Given the description of an element on the screen output the (x, y) to click on. 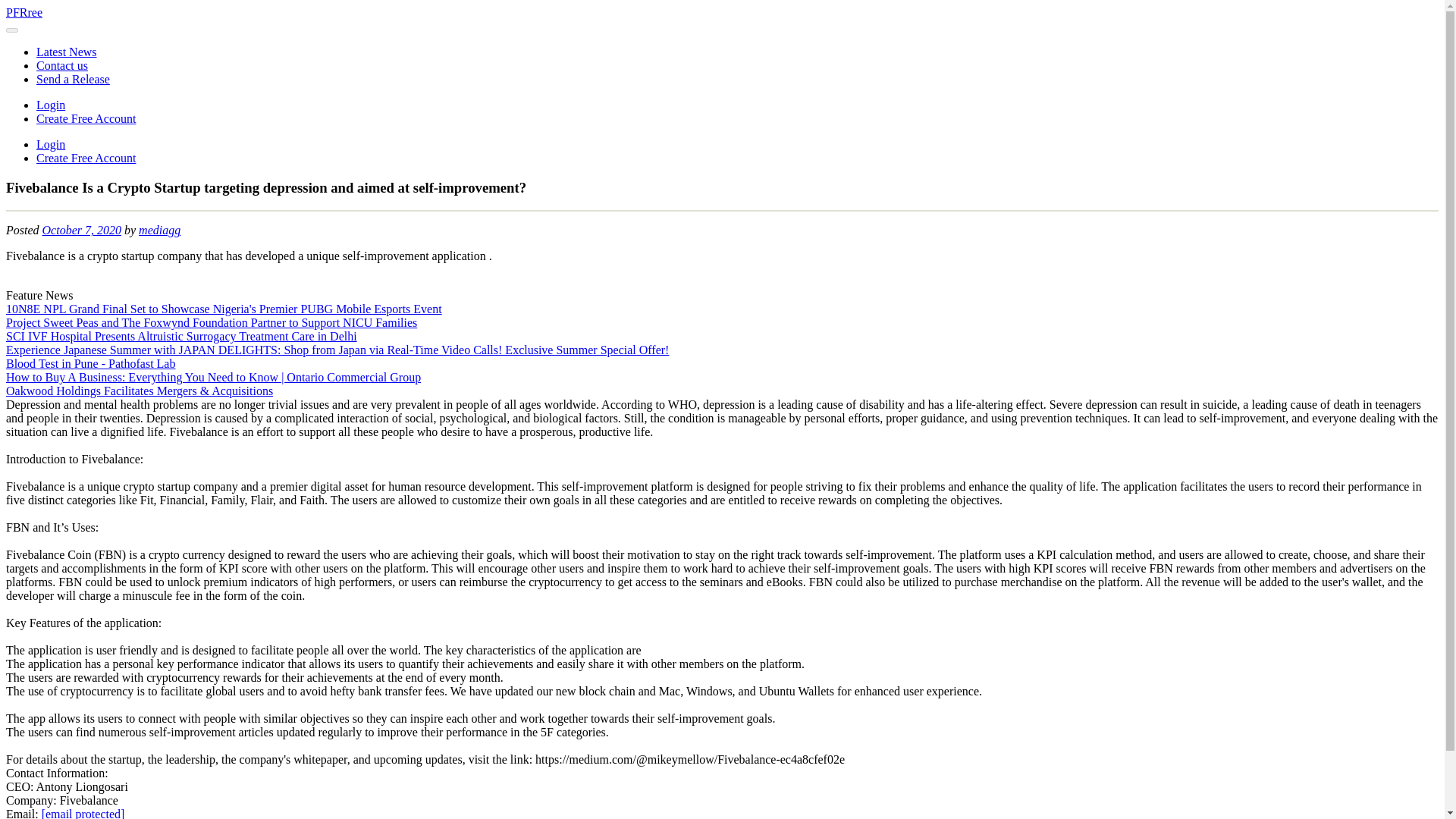
Latest News (66, 51)
Create Free Account (86, 118)
mediagg (159, 229)
Create Free Account (86, 157)
Login (50, 104)
Contact us (61, 65)
Send a Release (73, 78)
Blood Test in Pune - Pathofast Lab (89, 363)
October 7, 2020 (81, 229)
PFRree (23, 11)
Login (50, 144)
